Given the description of an element on the screen output the (x, y) to click on. 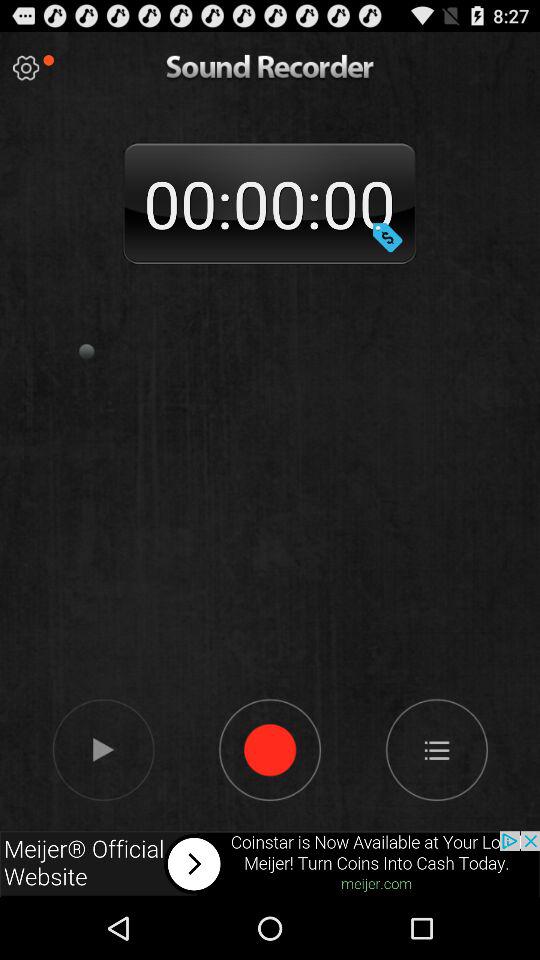
record option (269, 749)
